Given the description of an element on the screen output the (x, y) to click on. 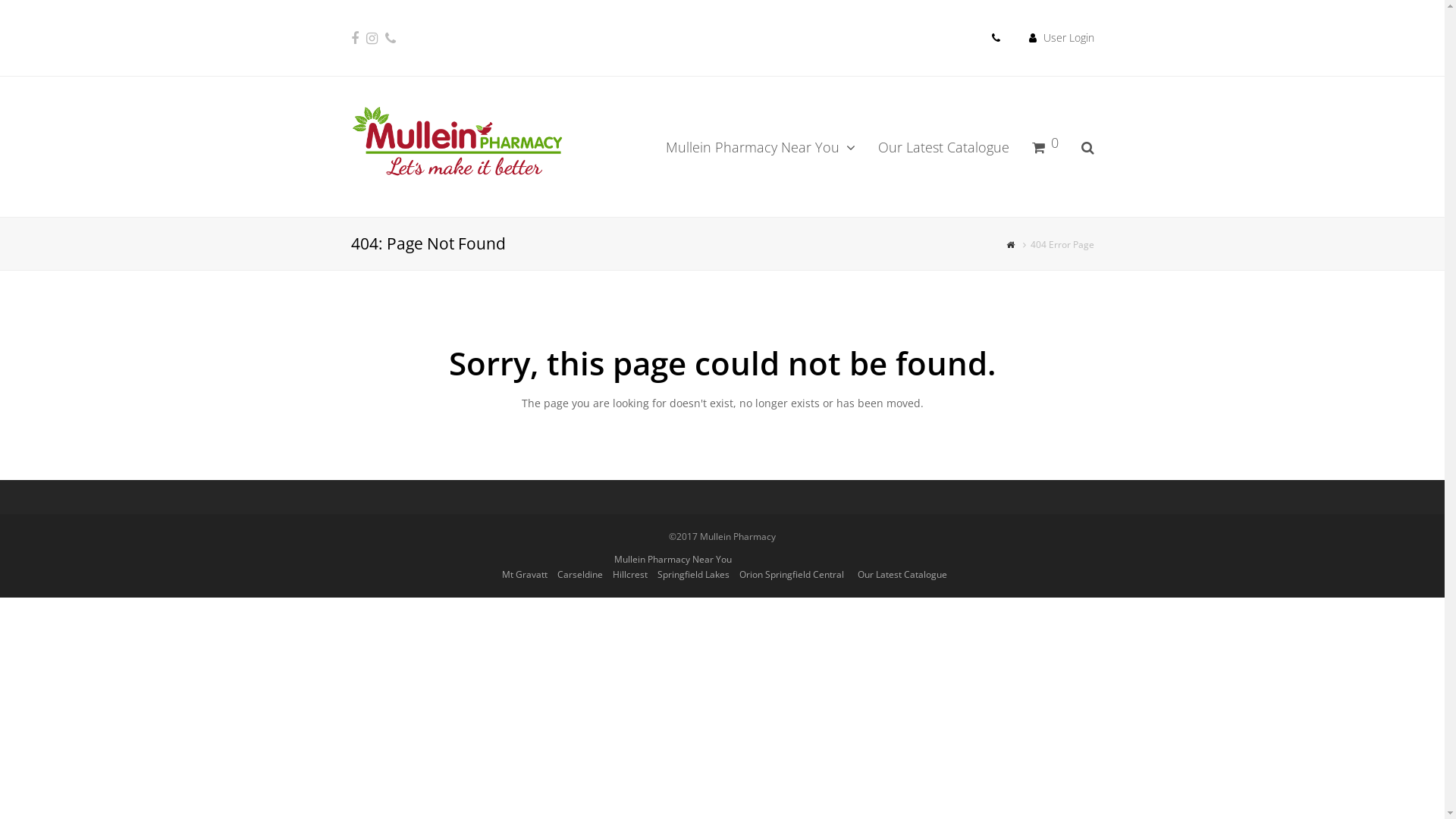
User Login Element type: text (1068, 37)
Phone Element type: text (390, 37)
Orion Springfield Central Element type: text (790, 573)
Mullein Pharmacy Near You Element type: text (759, 146)
Carseldine Element type: text (579, 573)
Facebook Element type: text (353, 37)
Mullein Pharmacy Near You Element type: text (672, 558)
Springfield Lakes Element type: text (692, 573)
Our Latest Catalogue Element type: text (942, 146)
Mullein Pharmacy Element type: hover (1011, 244)
Mullein Pharmacy Element type: hover (456, 143)
Hillcrest Element type: text (629, 573)
0 Element type: text (1045, 146)
Mt Gravatt Element type: text (524, 573)
Instagram Element type: text (370, 37)
Our Latest Catalogue Element type: text (901, 573)
